Given the description of an element on the screen output the (x, y) to click on. 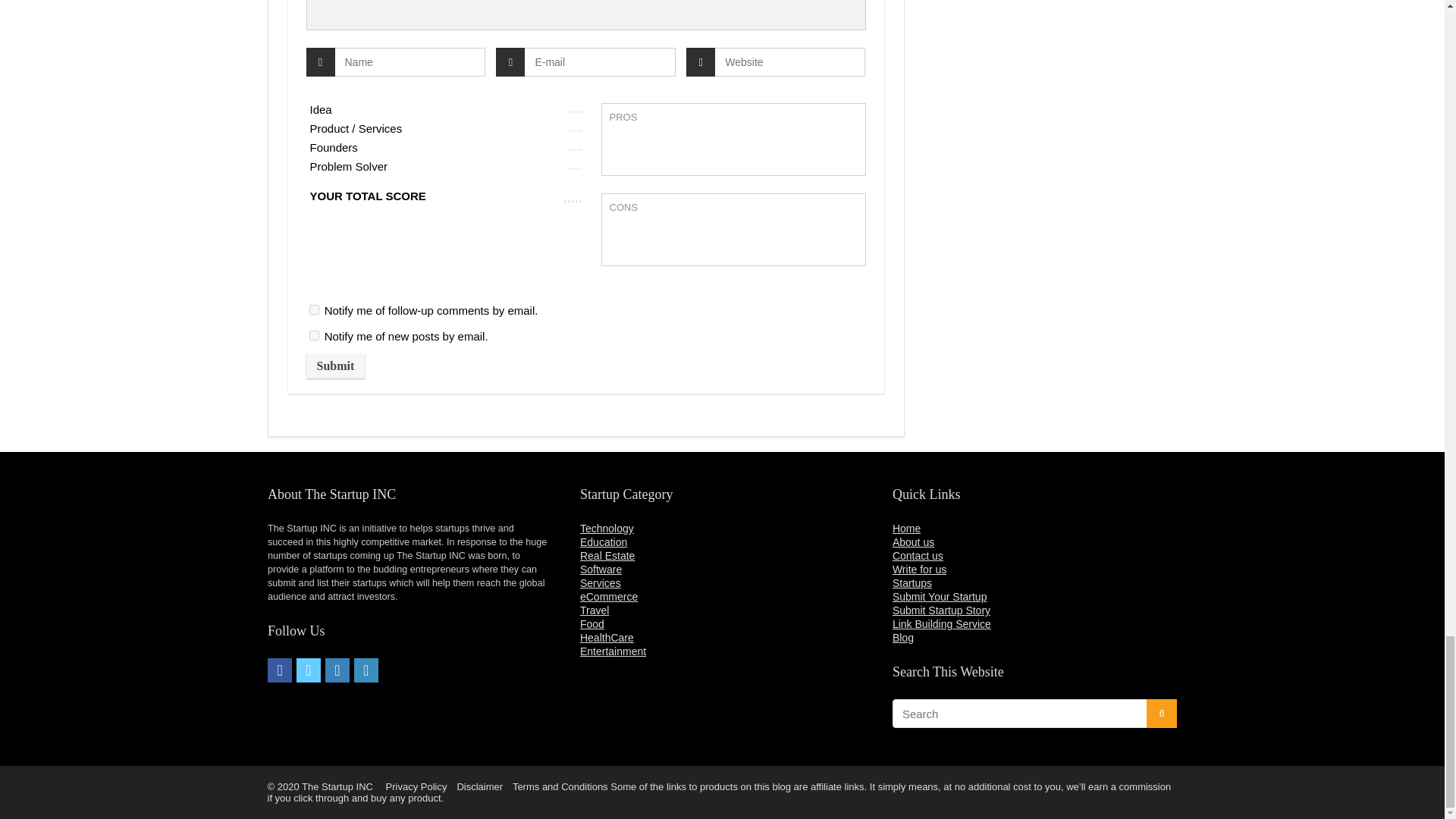
Terms and Conditions (560, 786)
subscribe (313, 335)
Disclaimer (479, 786)
subscribe (313, 309)
Submit (335, 365)
Submit (335, 365)
Privacy Policy (415, 786)
